Given the description of an element on the screen output the (x, y) to click on. 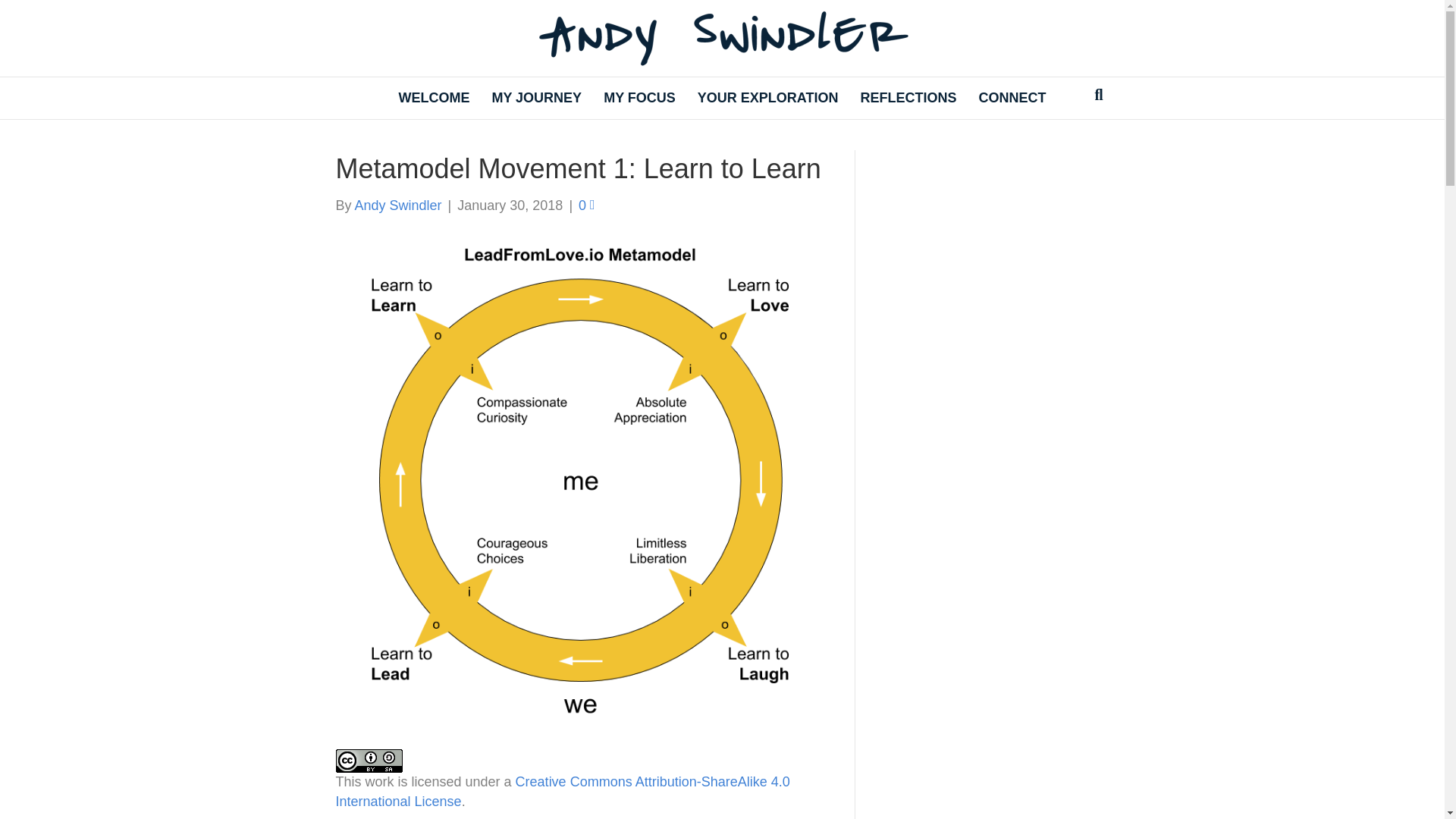
Andy Swindler (398, 205)
CONNECT (1012, 97)
YOUR EXPLORATION (767, 97)
0 (586, 205)
MY JOURNEY (536, 97)
REFLECTIONS (908, 97)
MY FOCUS (639, 97)
WELCOME (433, 97)
